Given the description of an element on the screen output the (x, y) to click on. 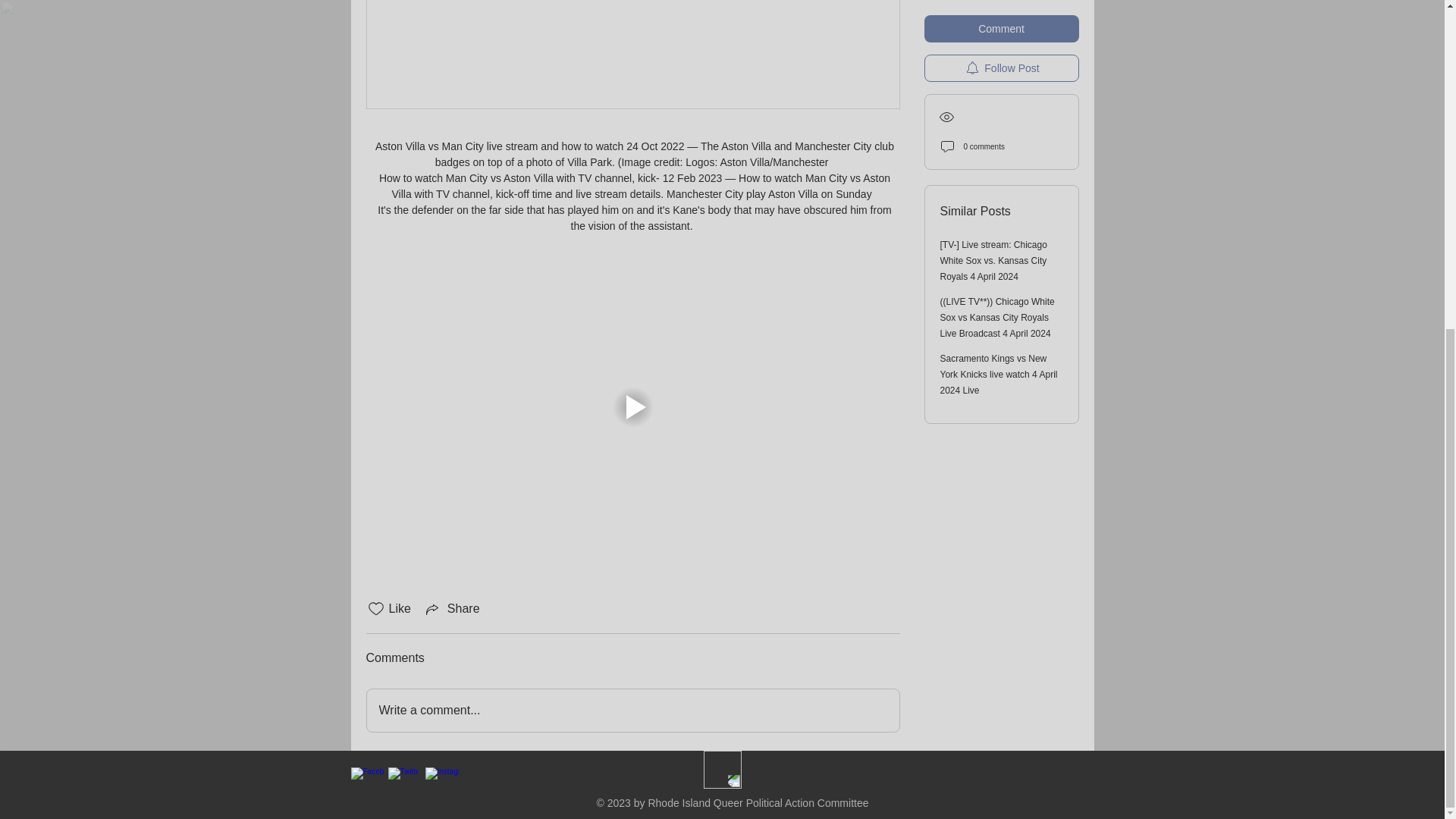
Write a comment... (632, 710)
Share (451, 608)
